Given the description of an element on the screen output the (x, y) to click on. 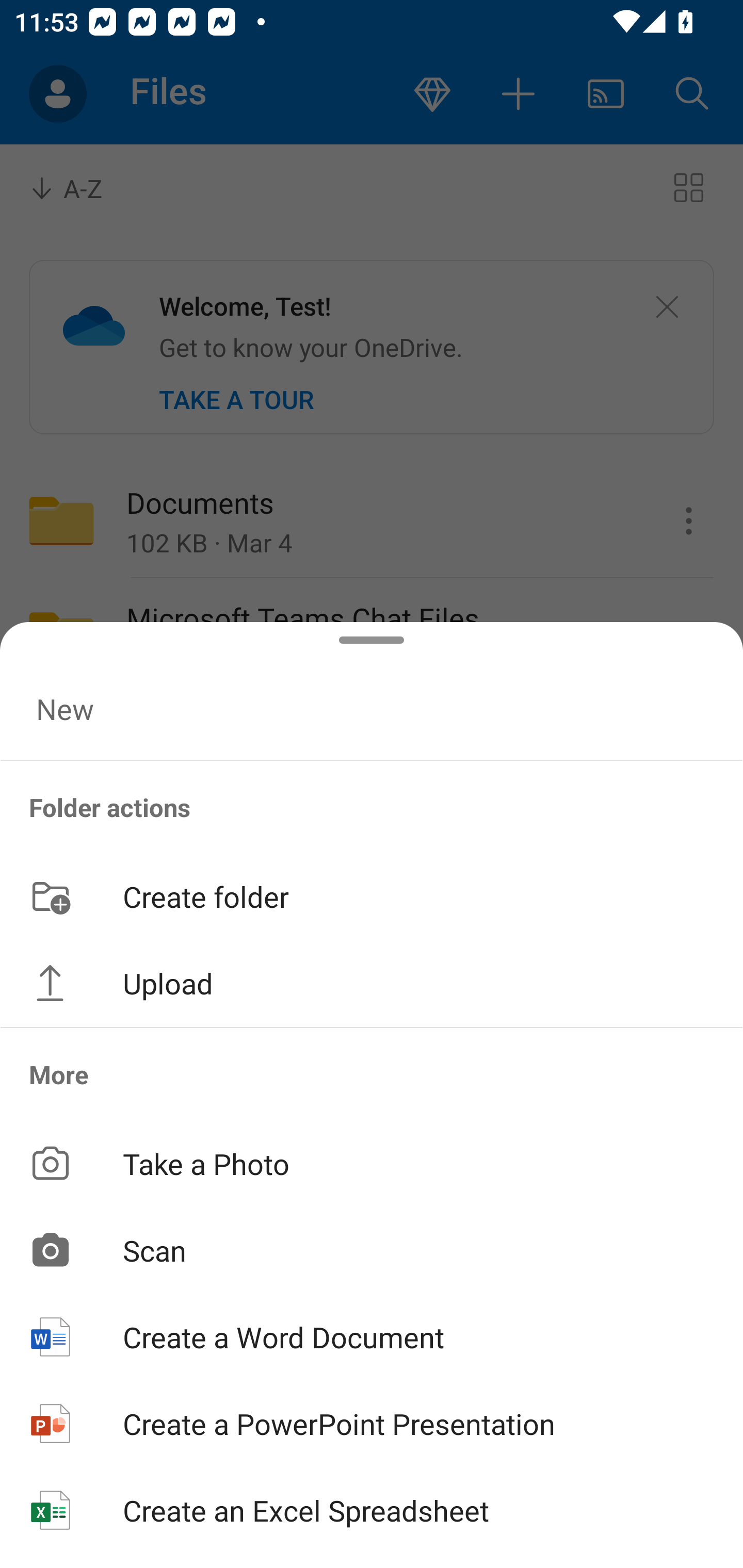
Create folder button Create folder (371, 895)
Upload button Upload (371, 983)
Take a Photo button Take a Photo (371, 1163)
Scan button Scan (371, 1250)
